Given the description of an element on the screen output the (x, y) to click on. 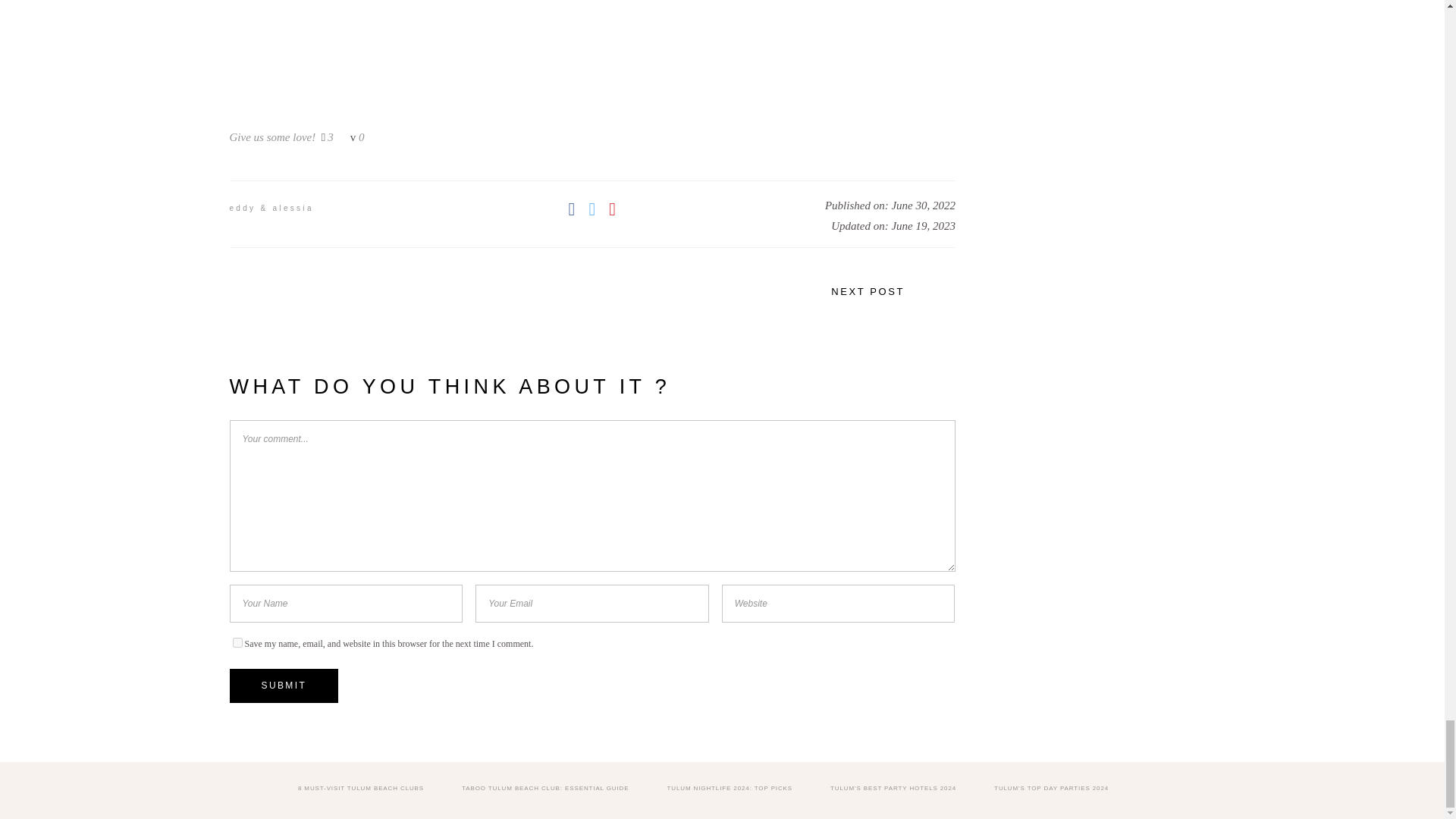
yes (236, 642)
best-tulum-beach-clubs-mexico (592, 51)
Like this (327, 137)
Submit (282, 685)
